Given the description of an element on the screen output the (x, y) to click on. 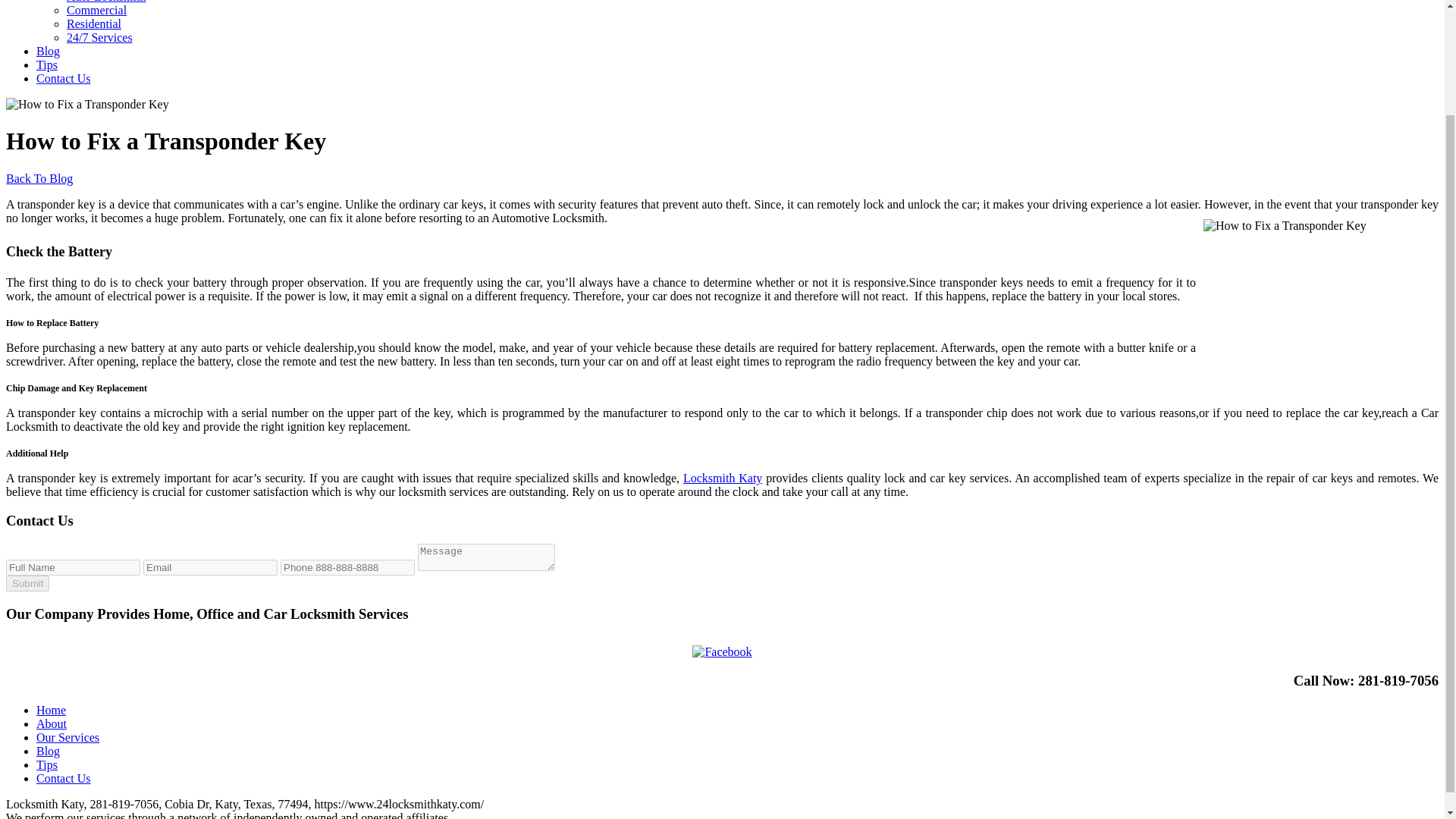
Home (50, 709)
Auto Locksmith (105, 1)
Contact Us (63, 78)
Locksmith Katy (721, 477)
About (51, 723)
Contact Us (63, 778)
Commercial (96, 10)
Submit (27, 583)
Tips (47, 64)
Submit (27, 583)
Facebook (722, 651)
Locksmith Katy (721, 477)
Blog (47, 51)
Blog (47, 750)
How to Fix a Transponder Key (1317, 295)
